Given the description of an element on the screen output the (x, y) to click on. 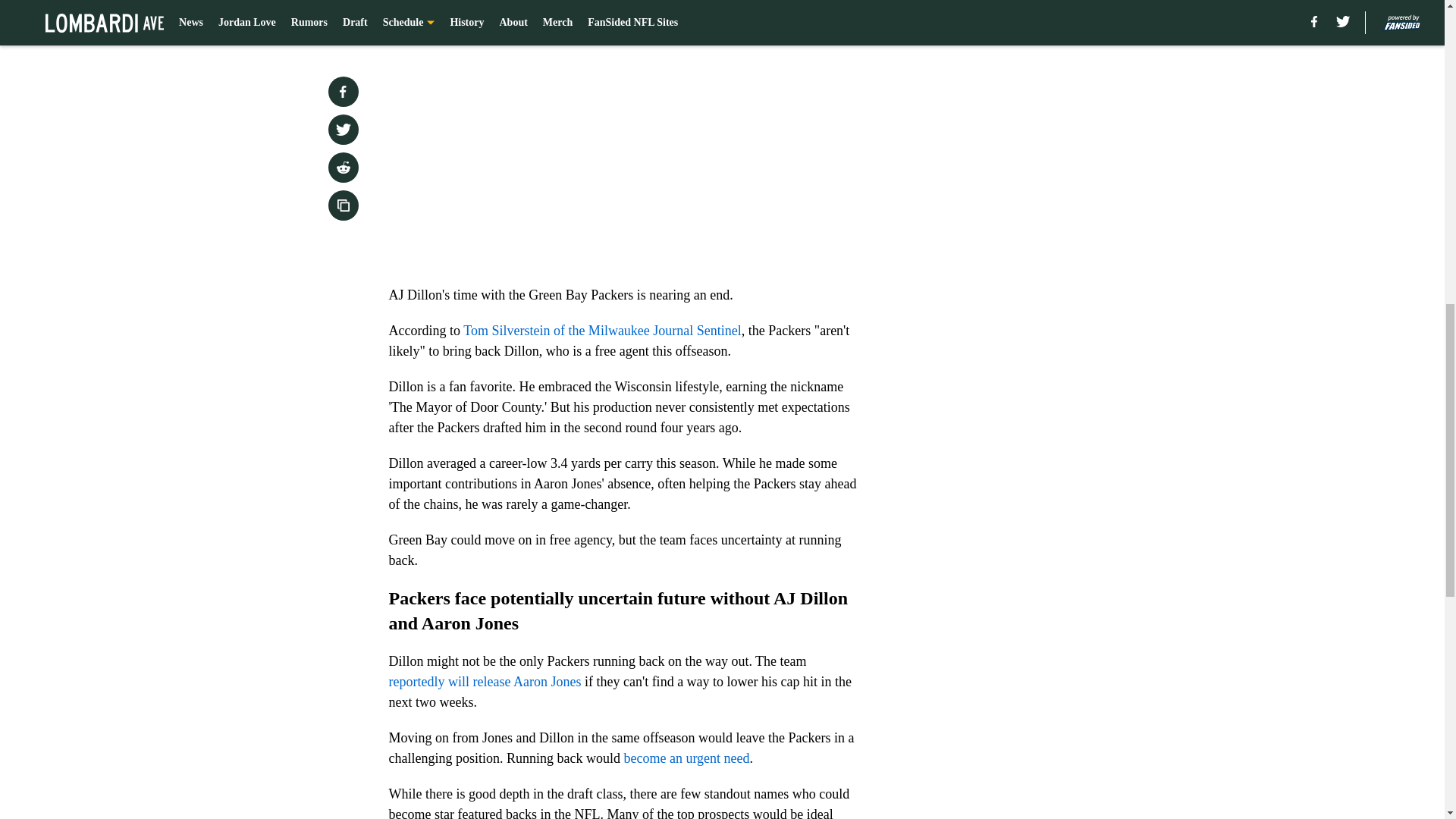
become an urgent need (686, 758)
Tom Silverstein of the Milwaukee Journal Sentinel (602, 330)
reportedly will release Aaron Jones (484, 681)
